Given the description of an element on the screen output the (x, y) to click on. 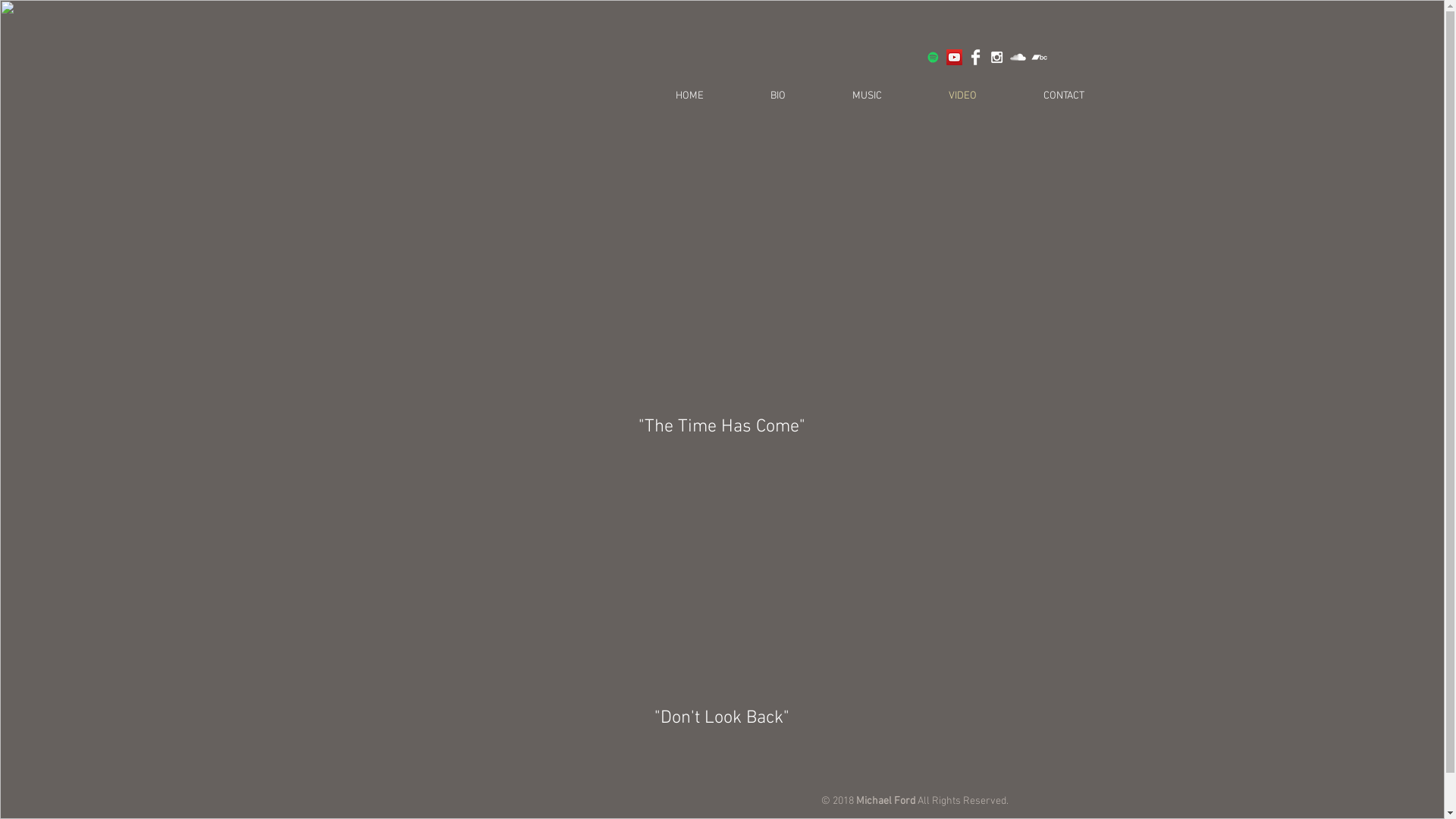
BIO Element type: text (753, 95)
VIDEO Element type: text (938, 95)
HOME Element type: text (664, 95)
CONTACT Element type: text (1039, 95)
External YouTube Element type: hover (721, 580)
MUSIC Element type: text (842, 95)
External YouTube Element type: hover (721, 270)
